Given the description of an element on the screen output the (x, y) to click on. 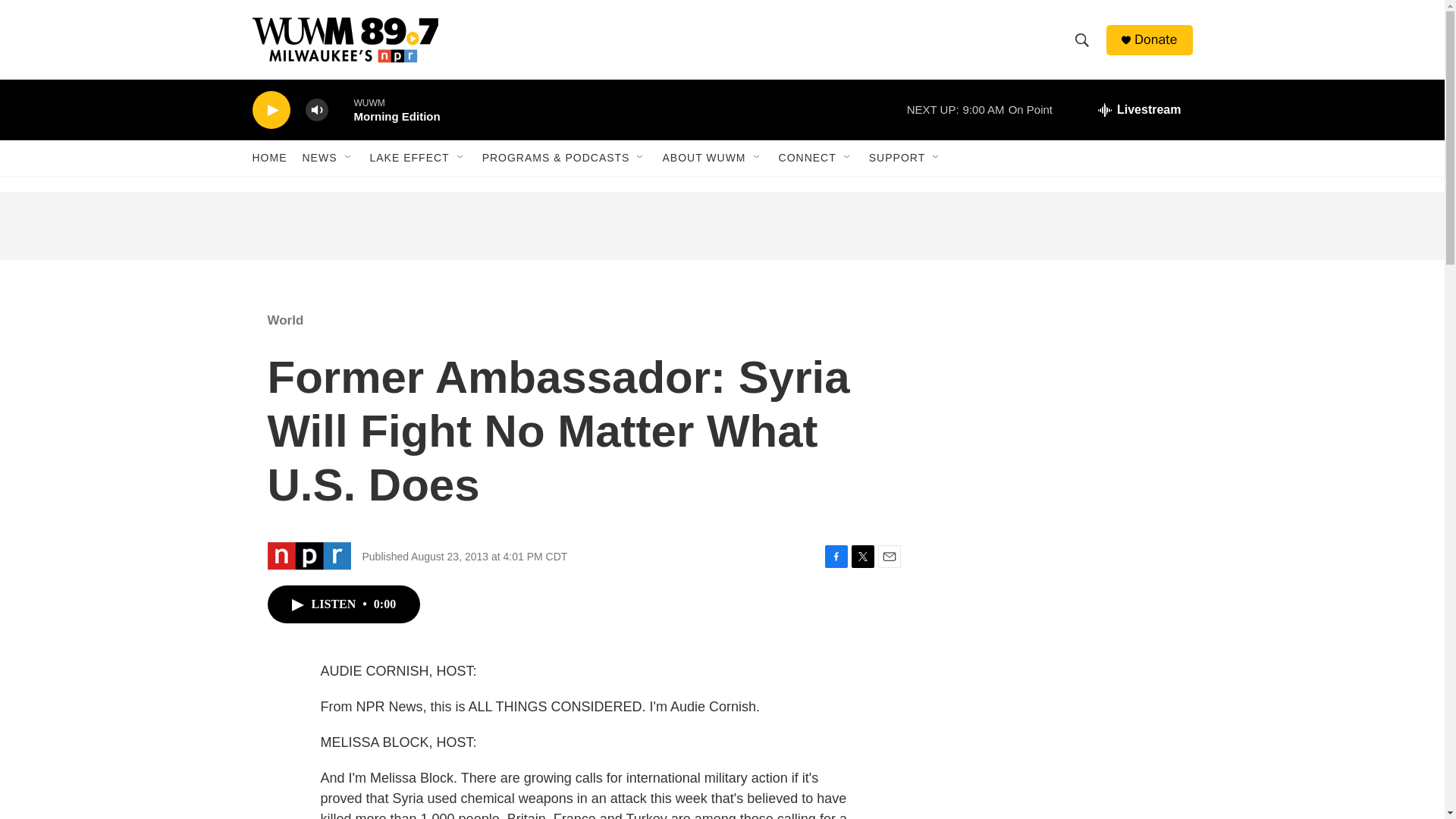
3rd party ad content (1062, 638)
3rd party ad content (1062, 800)
3rd party ad content (721, 225)
3rd party ad content (1062, 400)
